Given the description of an element on the screen output the (x, y) to click on. 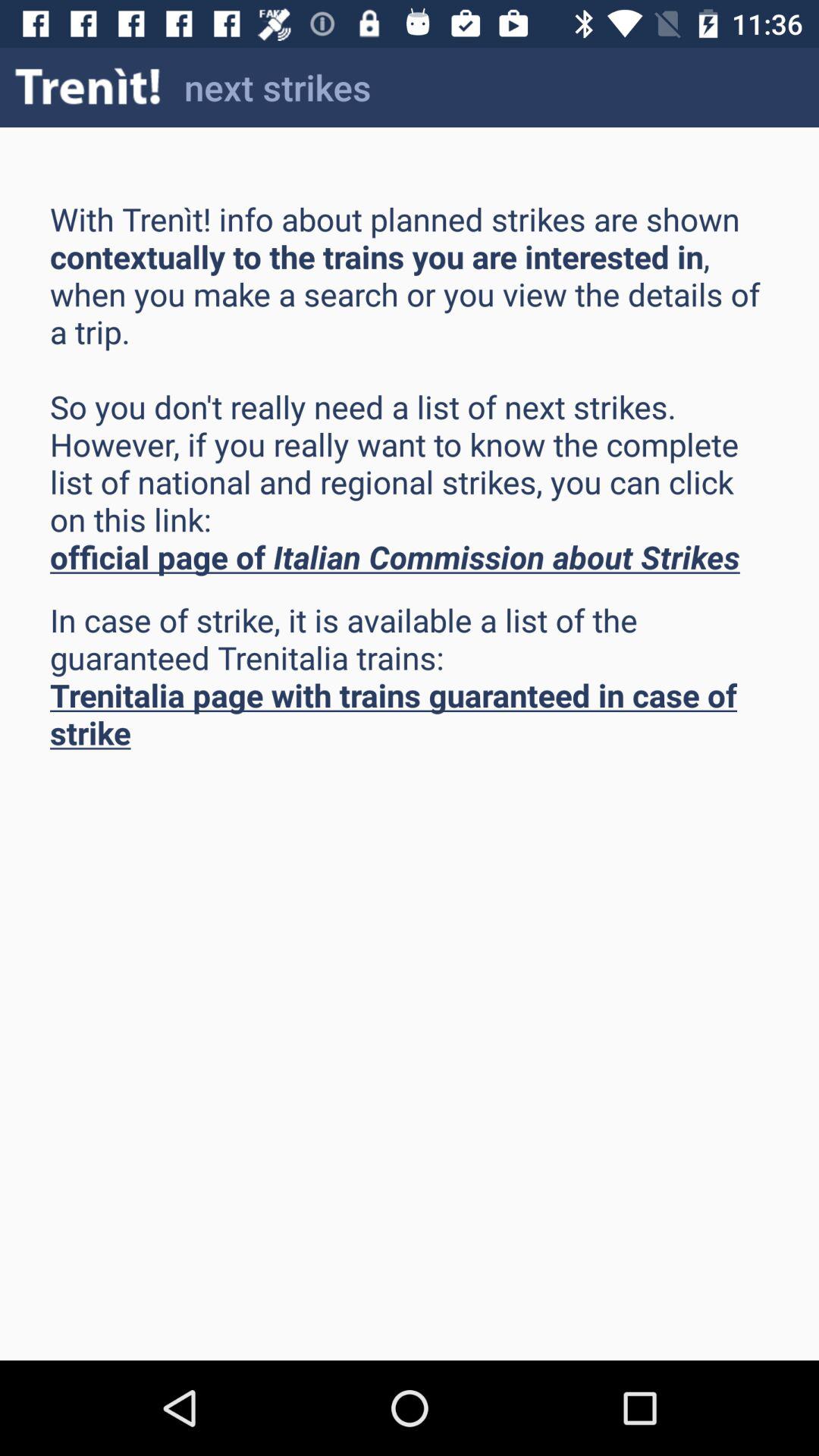
click item next to next strikes item (88, 87)
